Given the description of an element on the screen output the (x, y) to click on. 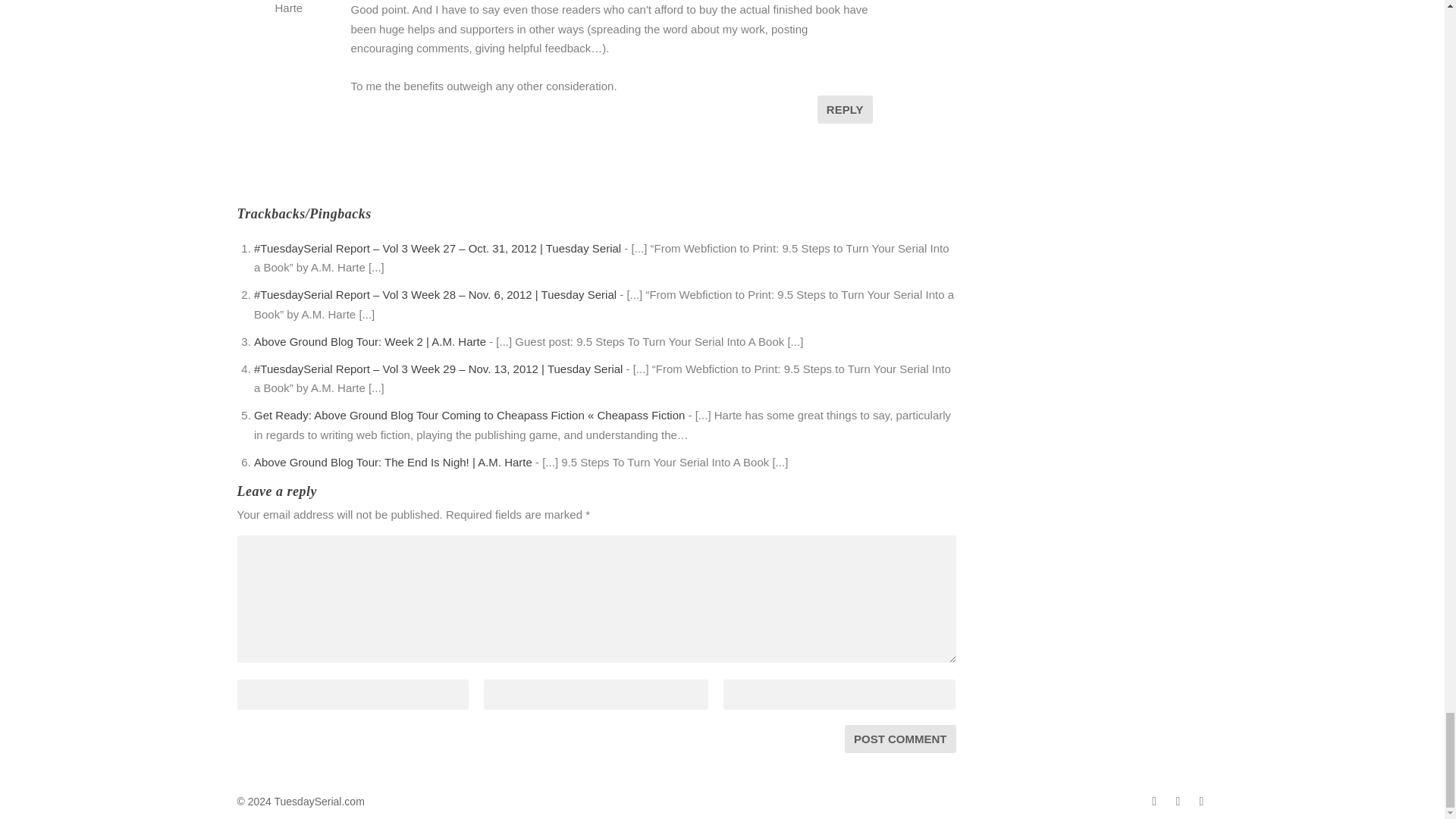
Post Comment (900, 738)
